Given the description of an element on the screen output the (x, y) to click on. 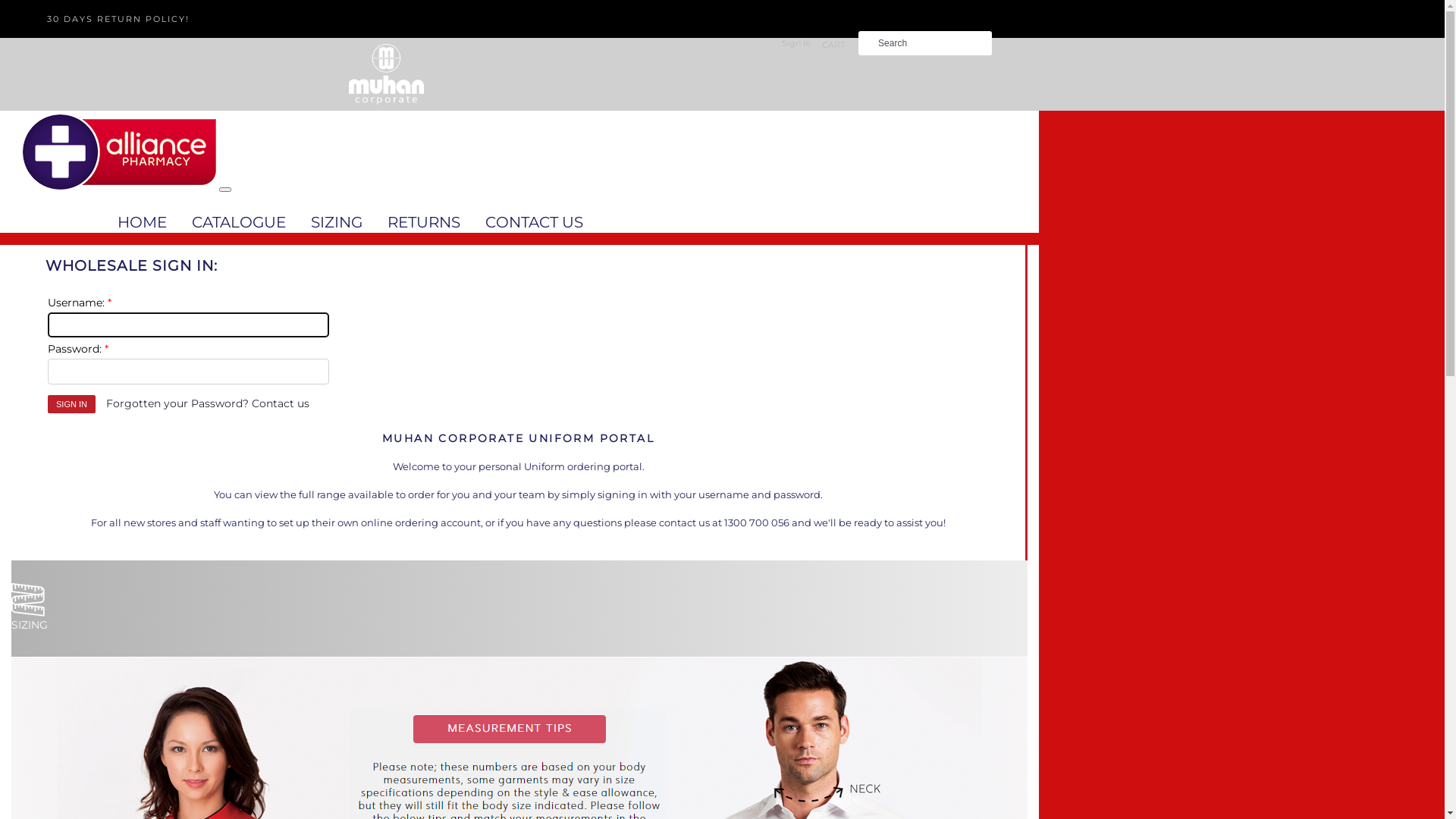
CART Element type: text (831, 44)
CONTACT US Element type: text (534, 222)
Forgotten your Password? Contact us Element type: text (207, 403)
CATALOGUE Element type: text (240, 222)
Sign In Element type: text (71, 404)
HOME Element type: text (143, 222)
SIZING Element type: text (338, 222)
Sign In Element type: text (795, 42)
RETURNS Element type: text (425, 222)
